Given the description of an element on the screen output the (x, y) to click on. 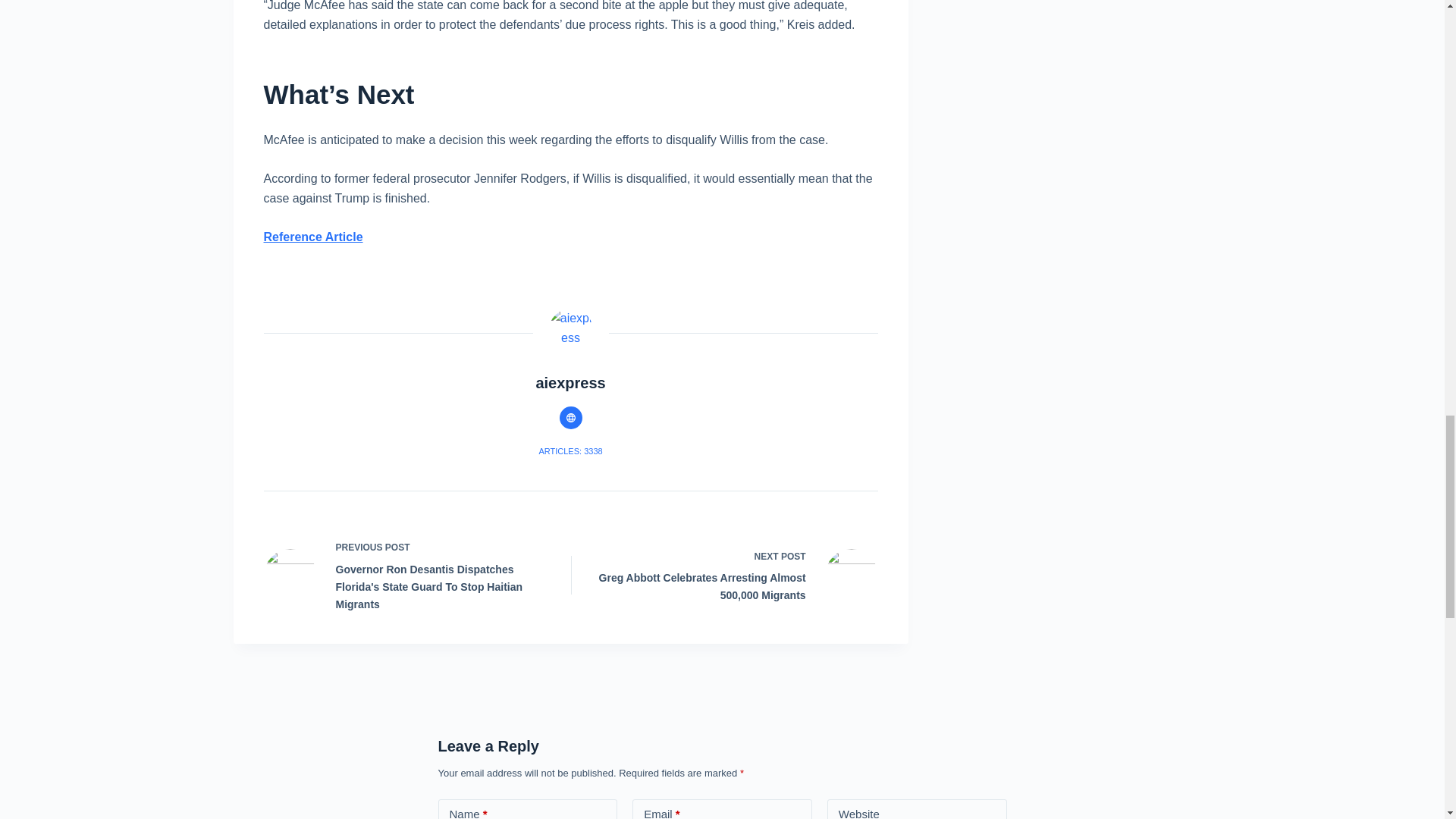
ARTICLES: 3338 (570, 450)
Reference Article (312, 236)
